Given the description of an element on the screen output the (x, y) to click on. 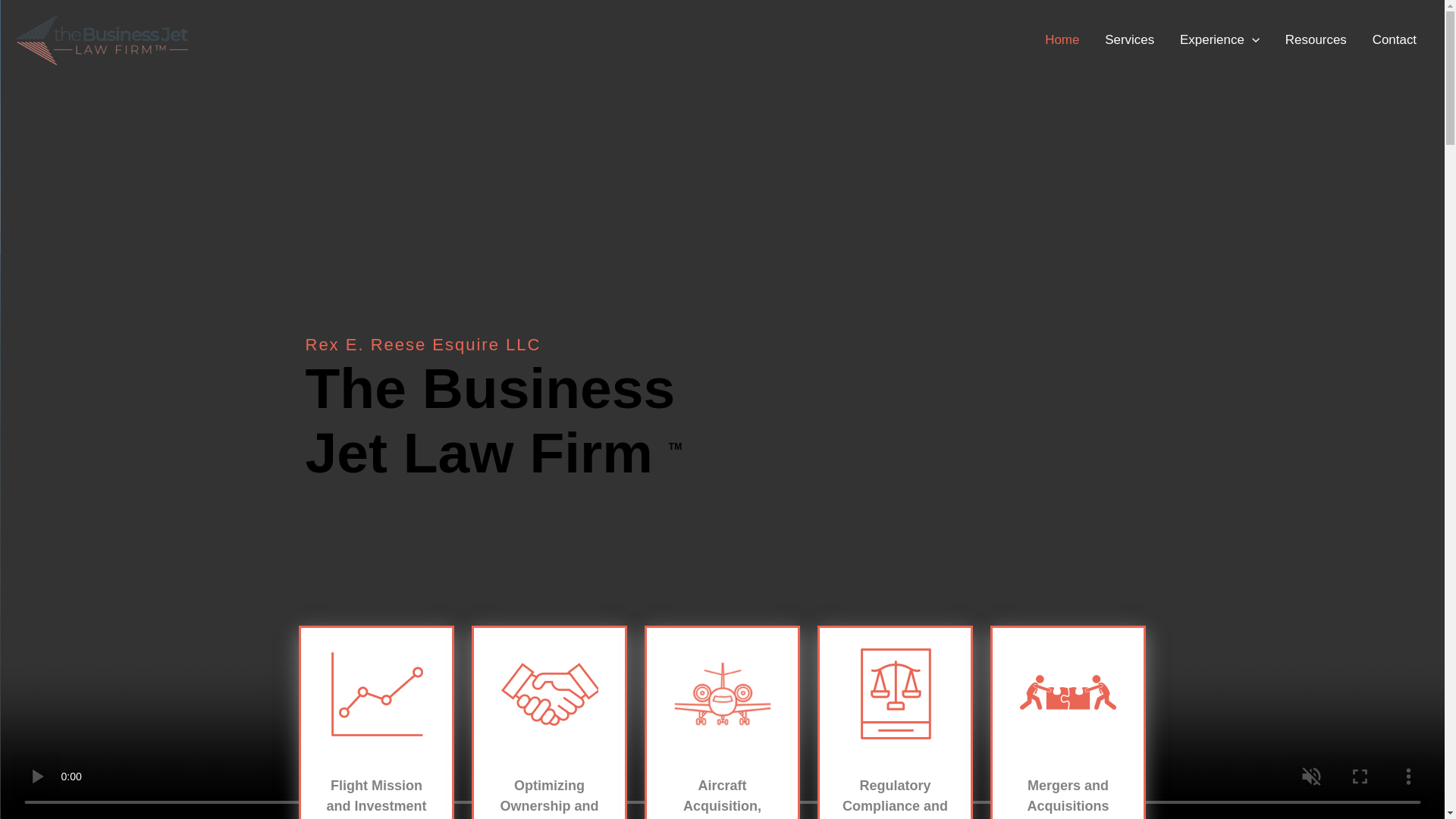
Experience (1219, 39)
Resources (1315, 39)
Contact (1394, 39)
Services (1129, 39)
Home (1062, 39)
